Given the description of an element on the screen output the (x, y) to click on. 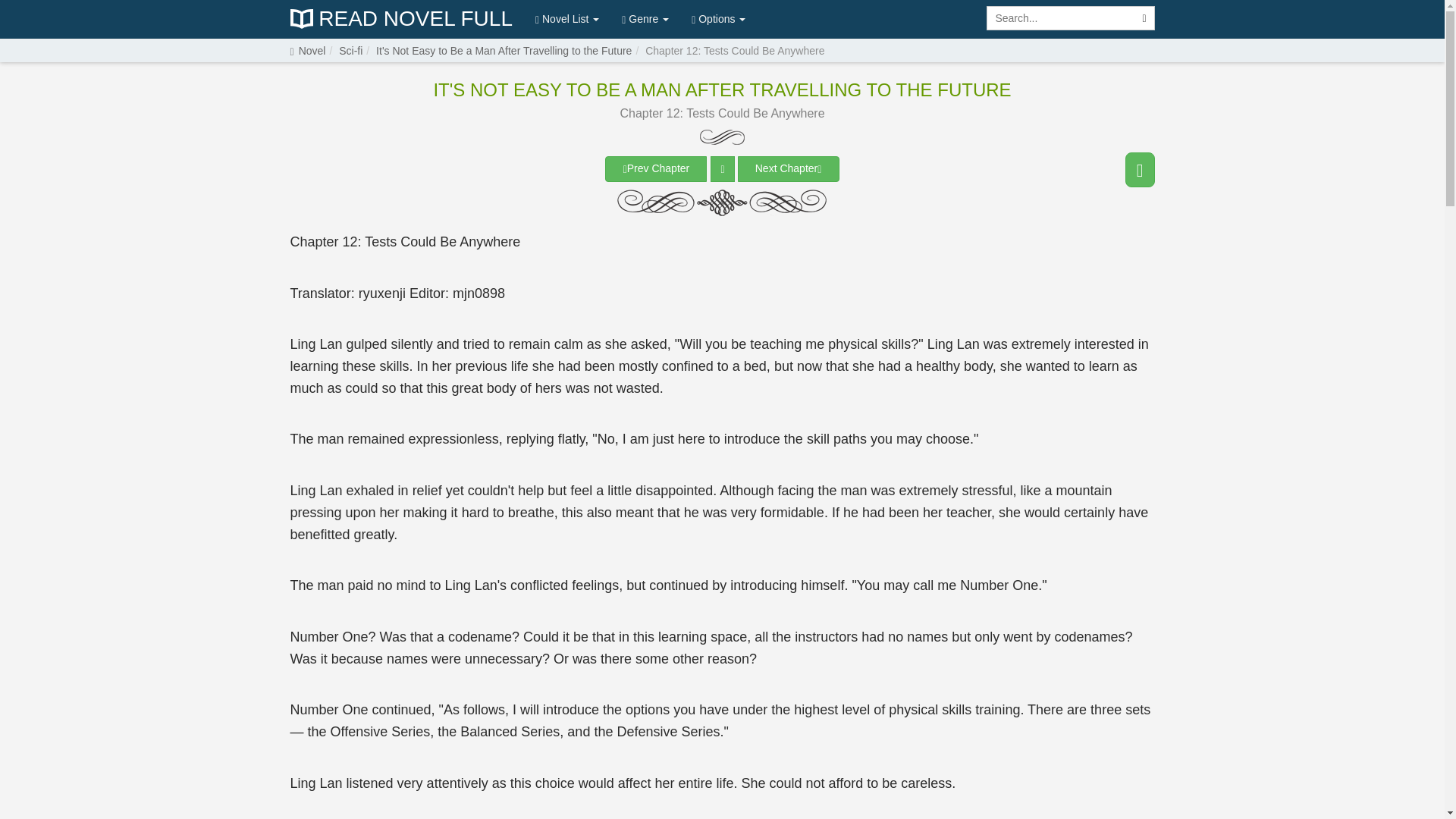
Genre (644, 18)
READ NOVEL FULL (400, 19)
Novel List (567, 18)
Read Novel Full (400, 19)
